Given the description of an element on the screen output the (x, y) to click on. 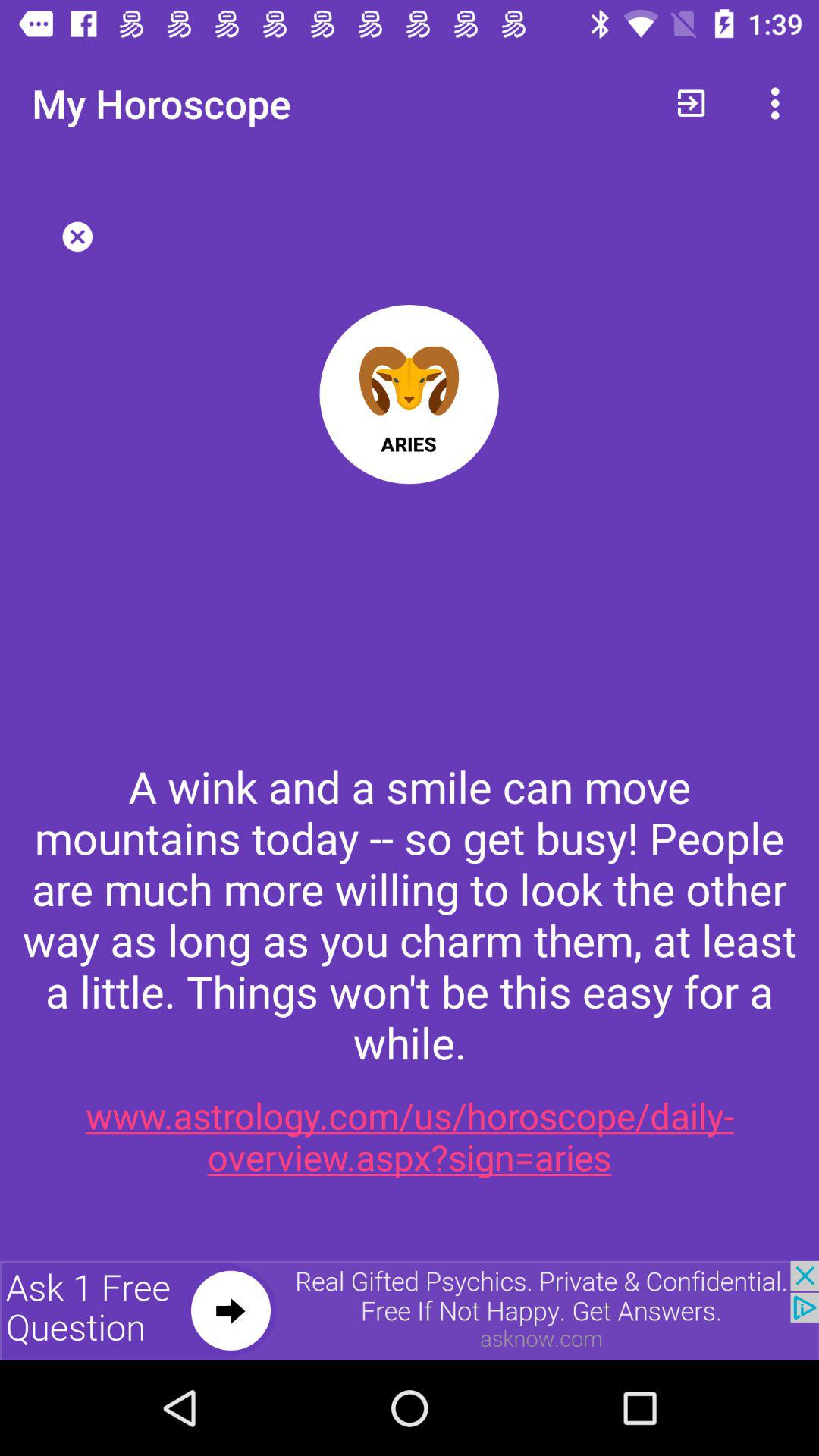
close button (77, 236)
